Given the description of an element on the screen output the (x, y) to click on. 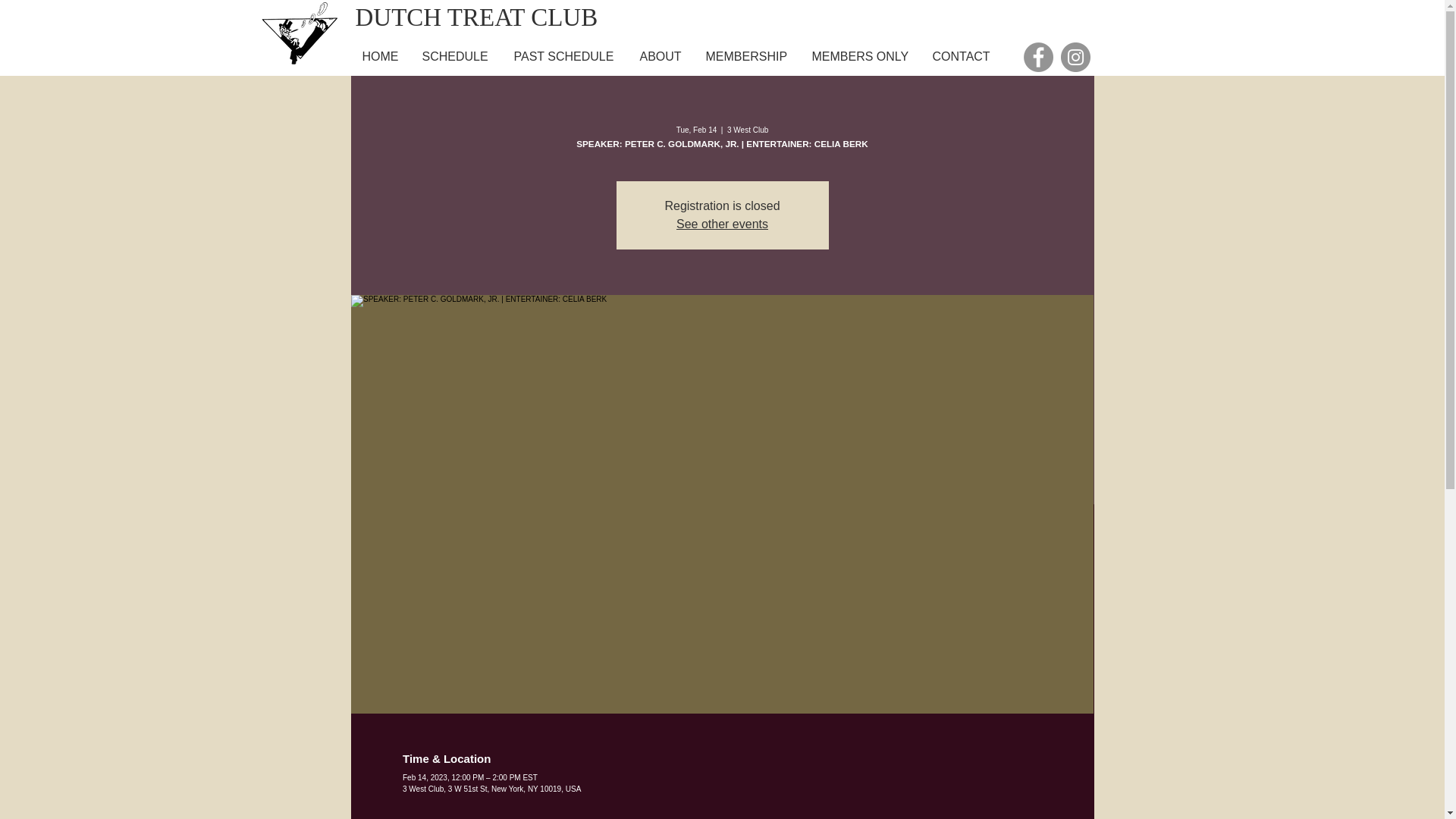
HOME (379, 56)
MEMBERSHIP (746, 56)
SCHEDULE (454, 56)
CONTACT (961, 56)
See other events (722, 223)
PAST SCHEDULE (564, 56)
MEMBERS ONLY (859, 56)
